Given the description of an element on the screen output the (x, y) to click on. 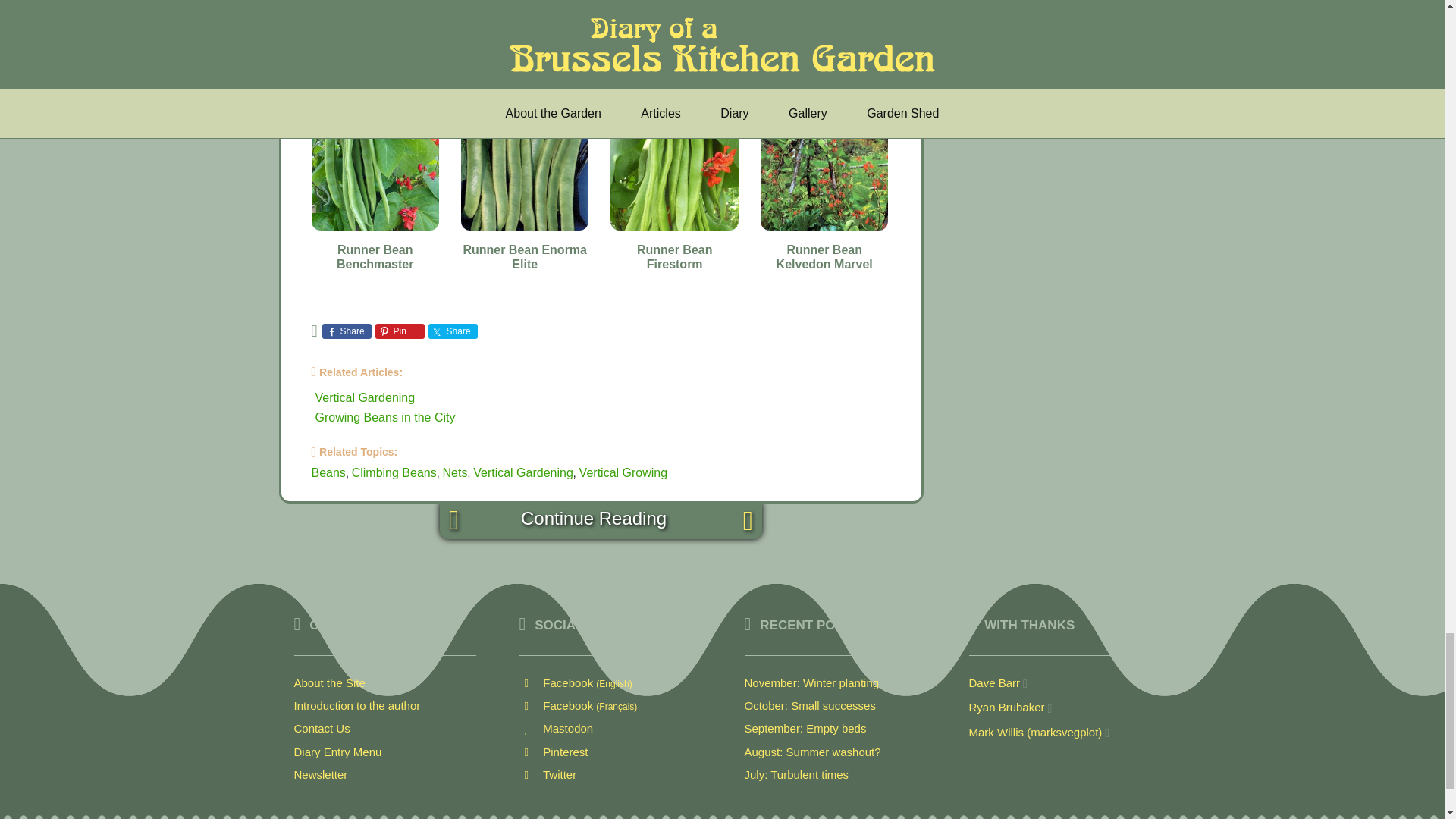
Vertical Gardening (364, 397)
Contact Us (322, 727)
Diary Entry Menu (337, 751)
Ryan Brubaker (1007, 707)
Facebook (577, 705)
Share (452, 331)
Share (346, 331)
Dave Barr (994, 682)
Pinterest (553, 751)
Pin (400, 331)
Introduction to the author (357, 705)
Twitter (547, 774)
Mastodon (555, 727)
Facebook (574, 682)
About the Site (329, 682)
